Given the description of an element on the screen output the (x, y) to click on. 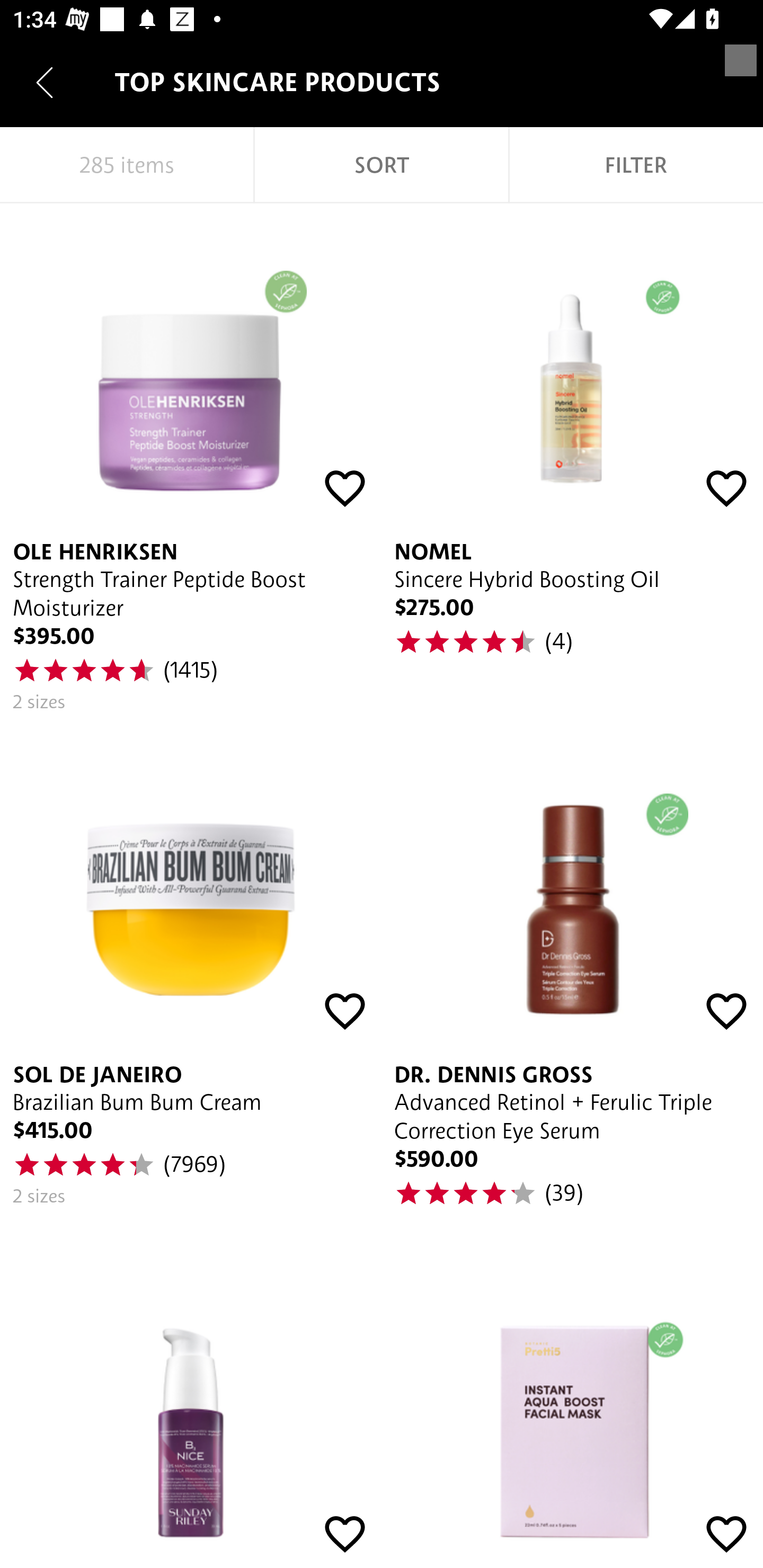
Navigate up (44, 82)
SORT (381, 165)
FILTER (636, 165)
NOMEL Sincere Hybrid Boosting Oil $275.00 45.0 (4) (572, 464)
